Given the description of an element on the screen output the (x, y) to click on. 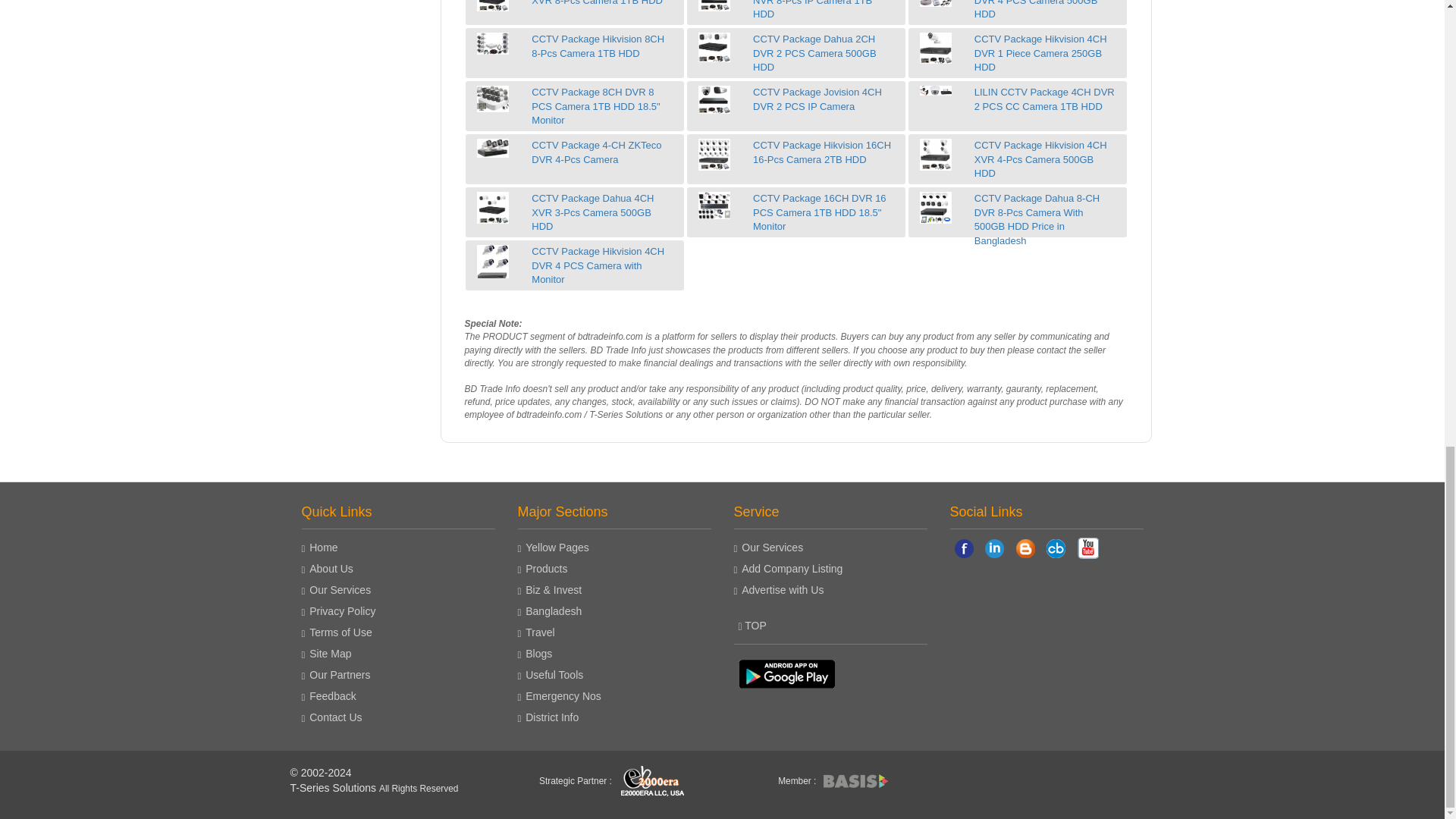
CCTV Package Hikvision 16CH 16-Pcs Camera 2TB HDD (714, 154)
CCTV Package 4-CH ZKTeco DVR 4-Pcs Camera (492, 148)
CCTV Package 16CH DVR 16 PCS Camera 1TB HDD 18.5" Monitor (714, 205)
LILIN CCTV Package 4CH DVR 2 PCS CC Camera 1TB HDD (936, 90)
CCTV Package Dahua 2CH DVR 2 PCS Camera 500GB HDD (714, 47)
Download Android Mobile Apps from Google Play Store (786, 669)
CCTV Package Jovision 4CH DVR 2 PCS IP Camera (714, 99)
CCTV Package Hikvision 8CH 8-Pcs Camera 1TB HDD (492, 43)
CCTV Package Hikvision 4CH DVR 1 Piece Camera 250GB HDD (936, 47)
CCTV Package Dahua 8CH XVR 8-Pcs Camera 1TB HDD (492, 5)
CCTV Package Dahua 4CH XVR 3-Pcs Camera 500GB HDD (492, 207)
CCTV Package 8CH DVR 8 PCS Camera 1TB HDD 18.5" Monitor (492, 98)
CCTV Package Hikvision 4CH DVR 4 PCS Camera with Monitor (492, 261)
CCTV Package Jovision 8CH NVR 8-Pcs IP Camera 1TB HDD (714, 5)
